Given the description of an element on the screen output the (x, y) to click on. 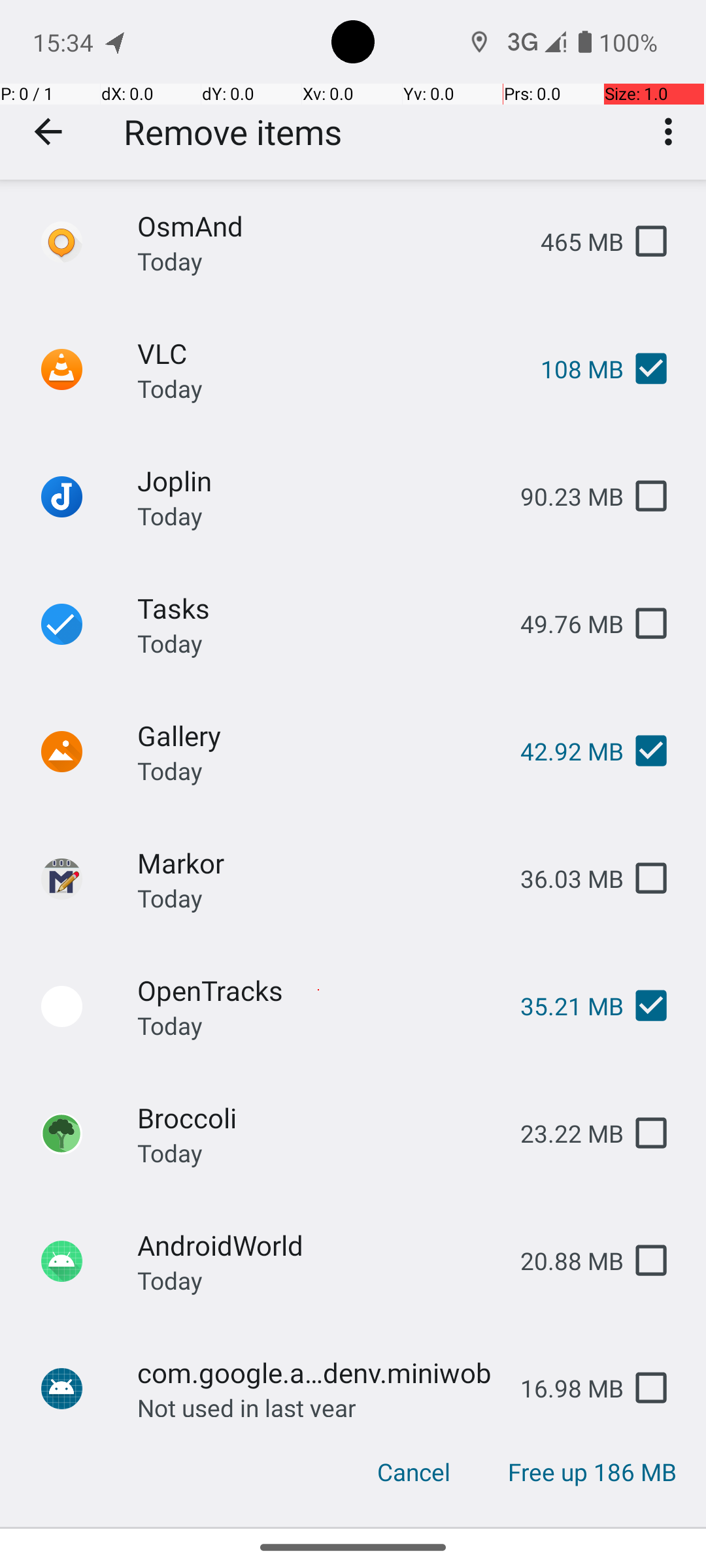
Remove items Element type: android.widget.TextView (232, 131)
Free up 186 MB Element type: android.widget.Button (592, 1471)
465 MB Element type: android.widget.TextView (571, 241)
108 MB Element type: android.widget.TextView (571, 368)
90.23 MB Element type: android.widget.TextView (561, 495)
49.76 MB Element type: android.widget.TextView (561, 623)
42.92 MB Element type: android.widget.TextView (561, 750)
36.03 MB Element type: android.widget.TextView (561, 878)
35.21 MB Element type: android.widget.TextView (561, 1005)
23.22 MB Element type: android.widget.TextView (561, 1132)
AndroidWorld Element type: android.widget.TextView (318, 1244)
20.88 MB Element type: android.widget.TextView (561, 1260)
com.google.androidenv.miniwob Element type: android.widget.TextView (318, 1371)
Not used in last year Element type: android.widget.TextView (246, 1403)
16.98 MB Element type: android.widget.TextView (561, 1387)
